Given the description of an element on the screen output the (x, y) to click on. 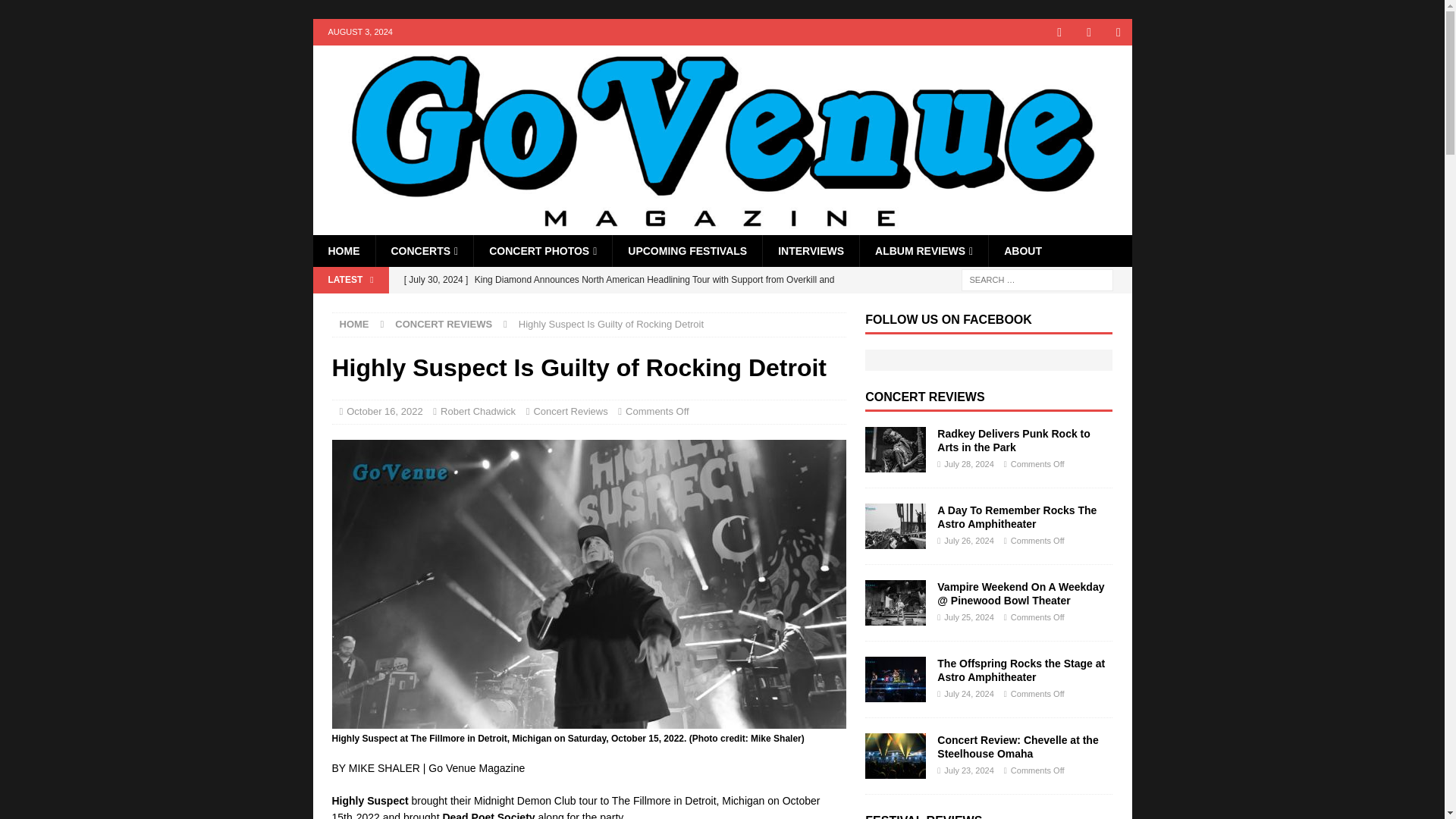
UPCOMING FESTIVALS (686, 250)
CONCERTS (423, 250)
CONCERT PHOTOS (542, 250)
ABOUT (1022, 250)
HOME (343, 250)
Search (56, 11)
INTERVIEWS (810, 250)
ALBUM REVIEWS (923, 250)
Go Venue Magazine (722, 226)
